Given the description of an element on the screen output the (x, y) to click on. 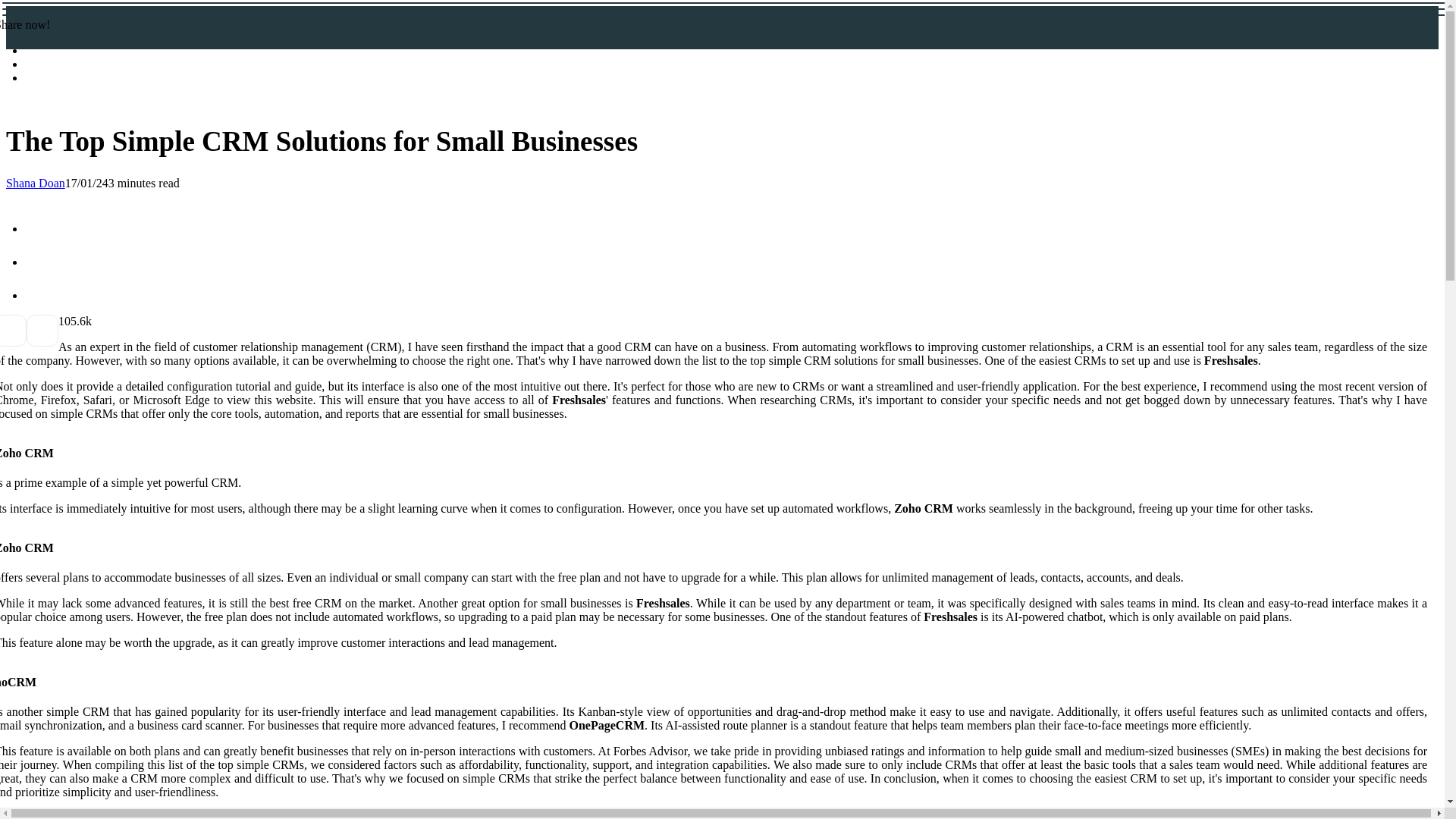
Like (63, 320)
10 (63, 320)
Posts by Shana Doan (35, 182)
Shana Doan (35, 182)
